Given the description of an element on the screen output the (x, y) to click on. 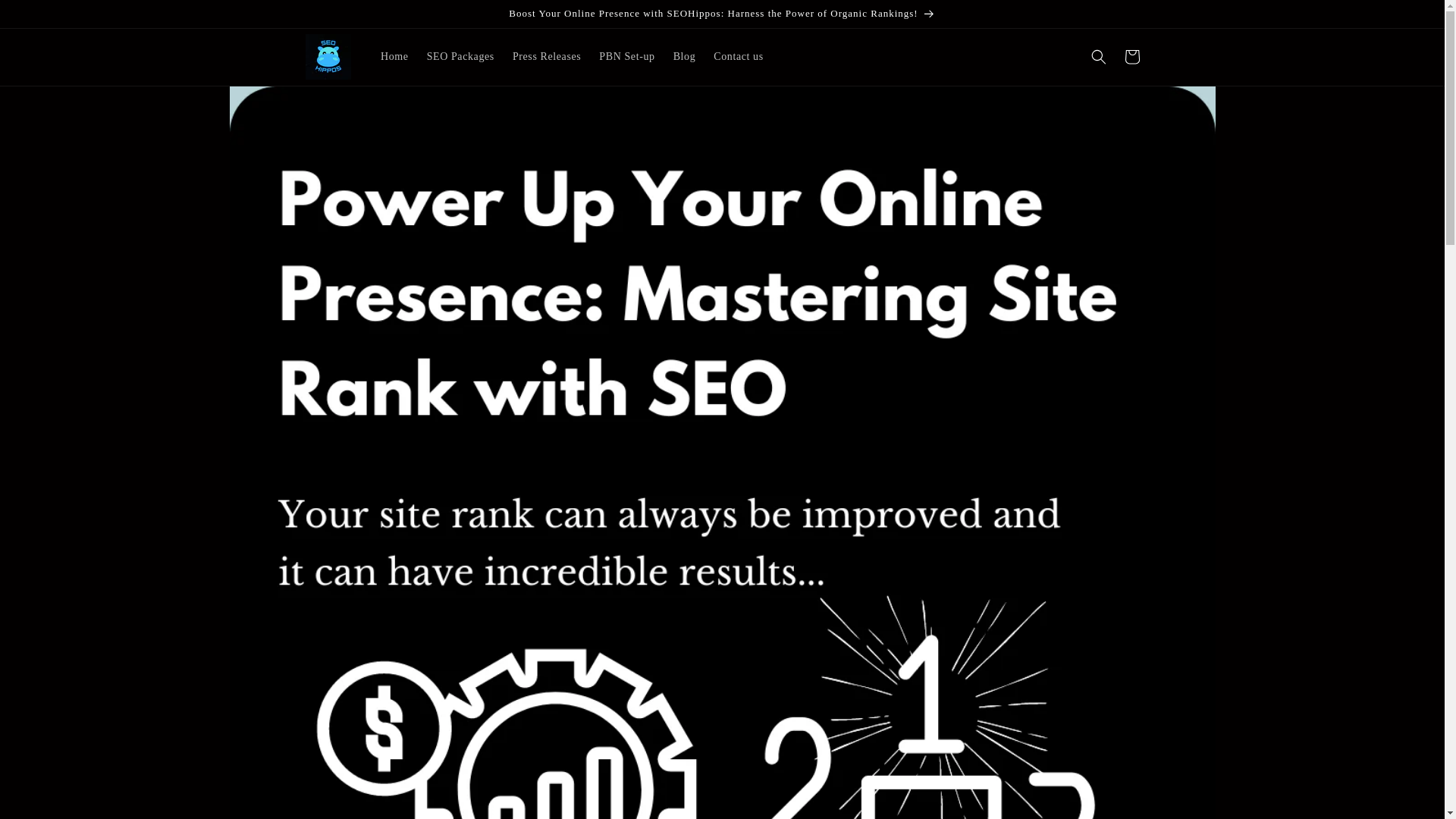
Blog (683, 56)
Home (394, 56)
PBN Set-up (626, 56)
Cart (1131, 56)
Contact us (738, 56)
SEO Packages (460, 56)
Press Releases (546, 56)
Skip to content (45, 17)
